Given the description of an element on the screen output the (x, y) to click on. 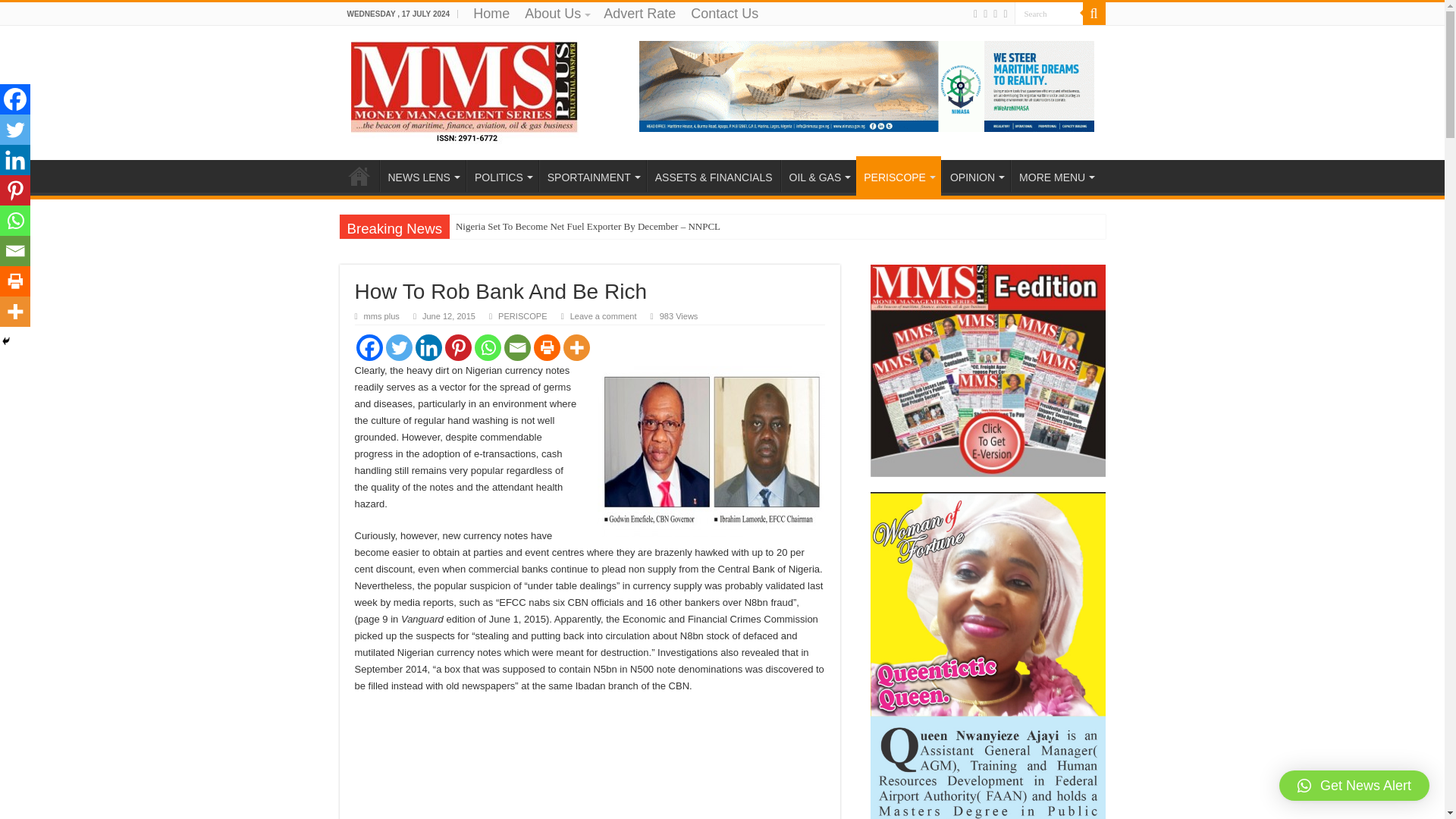
Search (1048, 13)
HOME (358, 175)
Search (1048, 13)
Home (490, 13)
About Us (555, 13)
Search (1048, 13)
